Given the description of an element on the screen output the (x, y) to click on. 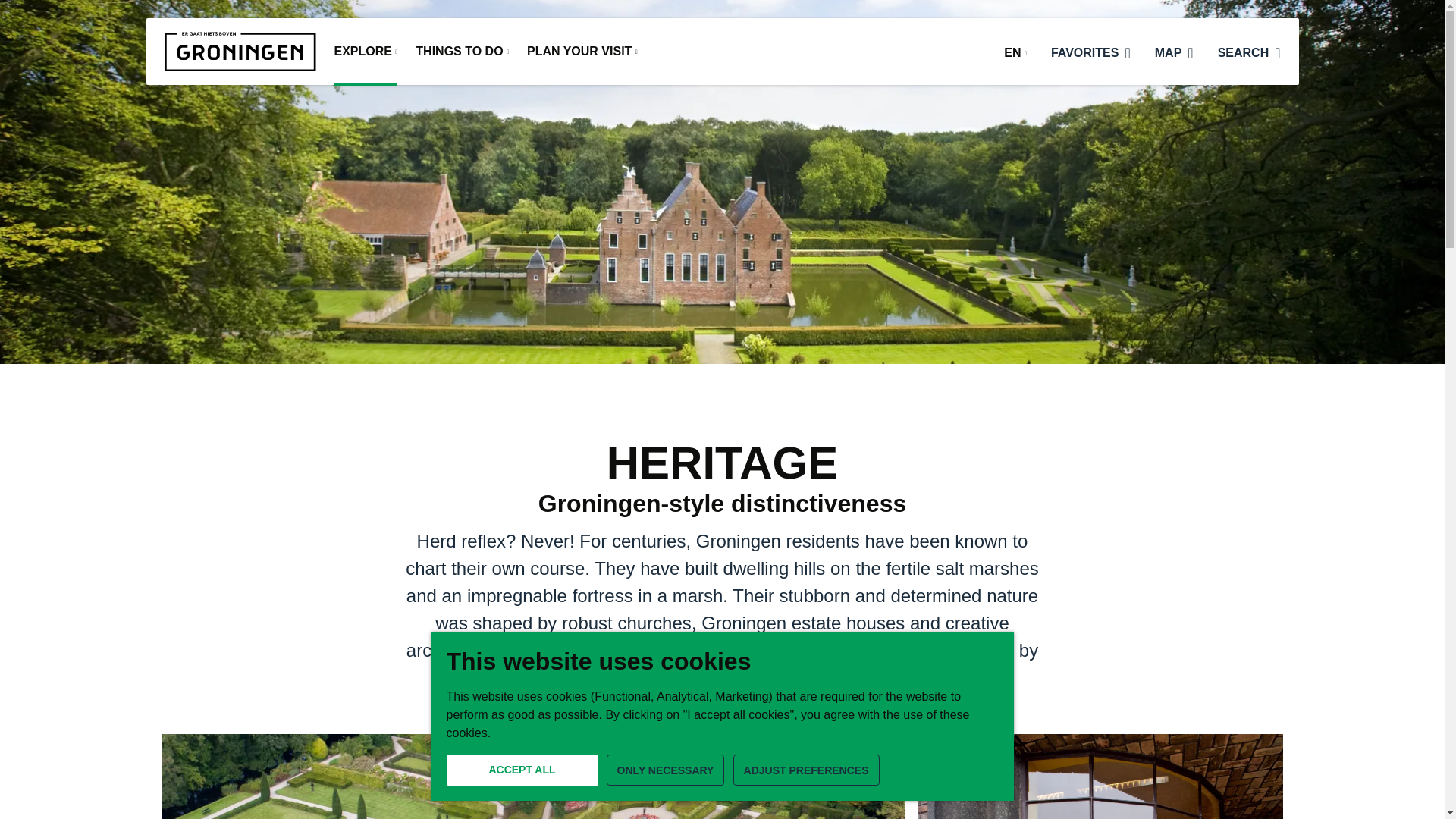
Borgen, castles of the north (532, 776)
THINGS TO DO (461, 52)
ADJUST PREFERENCES (806, 769)
EXPLORE (365, 52)
PLAN YOUR VISIT (582, 52)
MAP (1173, 50)
FAVORITES (1091, 50)
Visit Groningen (239, 51)
ONLY NECESSARY (666, 769)
Visit Groningen (239, 51)
